Given the description of an element on the screen output the (x, y) to click on. 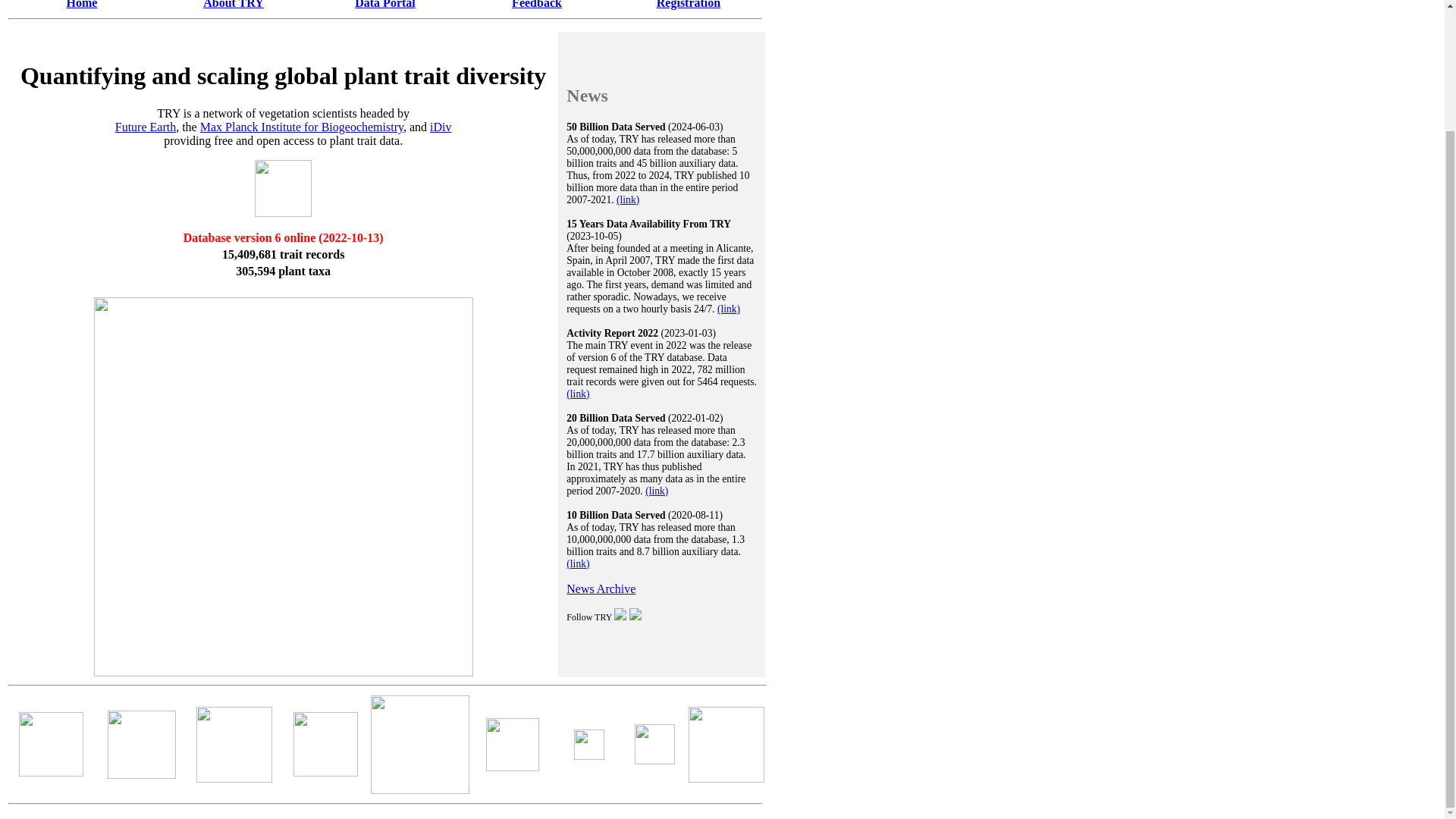
About TRY (233, 4)
Home (81, 4)
Data Portal (384, 4)
News Archive (600, 588)
iDiv (440, 126)
Future Earth (145, 126)
Registration (688, 4)
Max Planck Institute for Biogeochemistry (301, 126)
Feedback (537, 4)
